Given the description of an element on the screen output the (x, y) to click on. 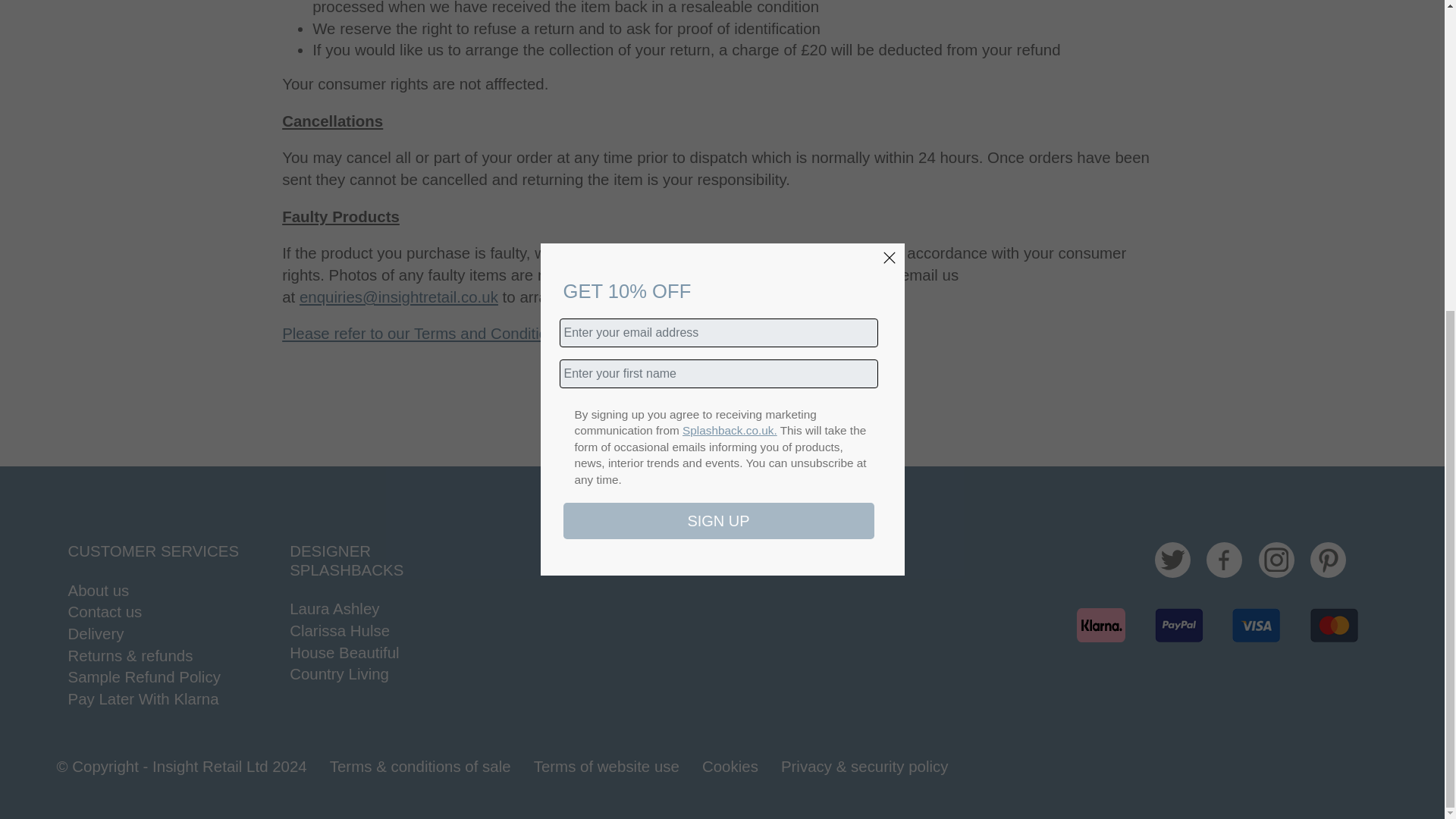
SIGN UP (717, 26)
